Given the description of an element on the screen output the (x, y) to click on. 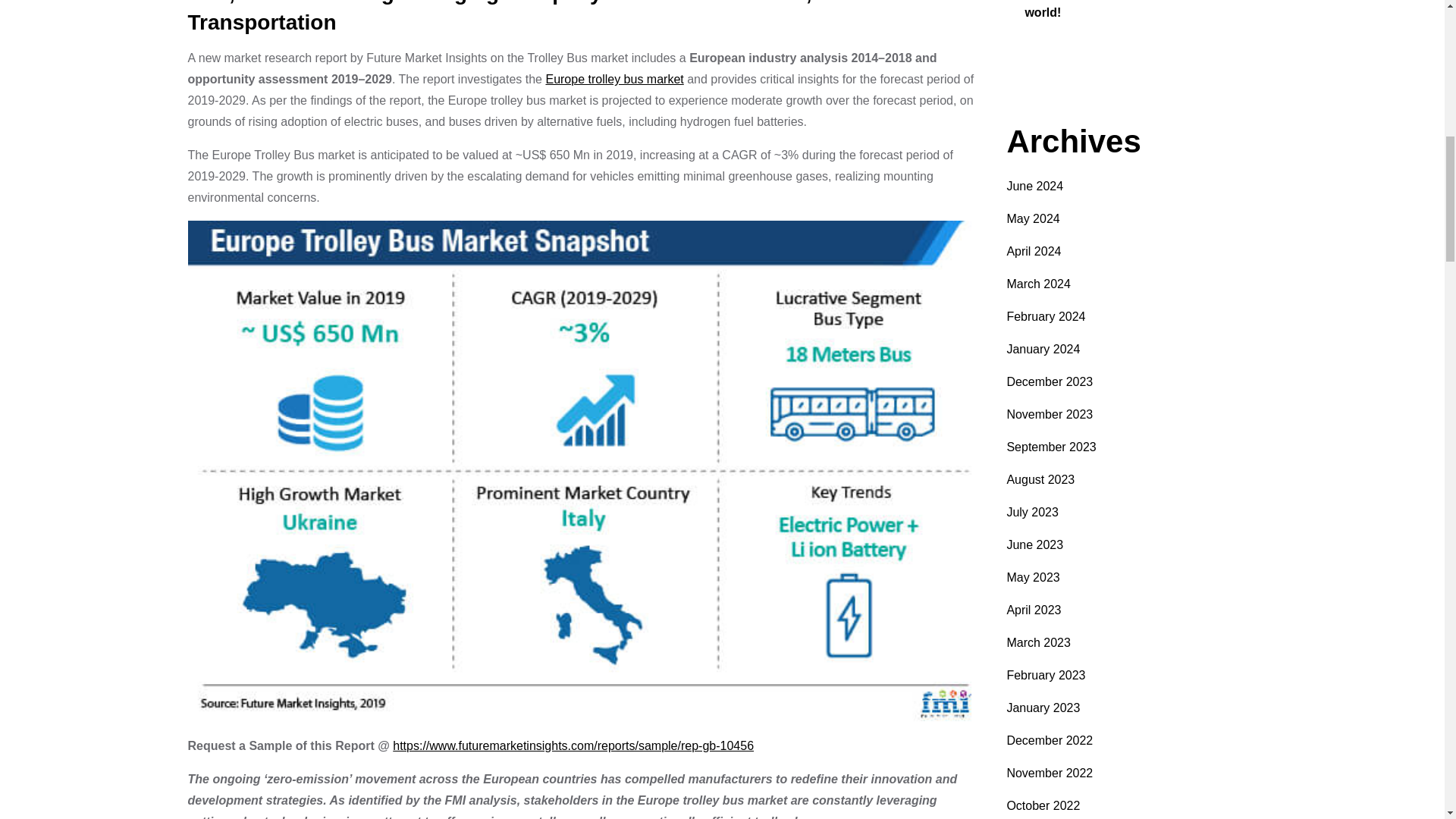
November 2023 (1049, 413)
Europe trolley bus market (613, 78)
April 2023 (1033, 609)
April 2024 (1033, 250)
January 2023 (1043, 707)
Hello world! (1123, 9)
March 2023 (1038, 642)
May 2024 (1032, 218)
June 2024 (1034, 185)
March 2024 (1038, 283)
